Given the description of an element on the screen output the (x, y) to click on. 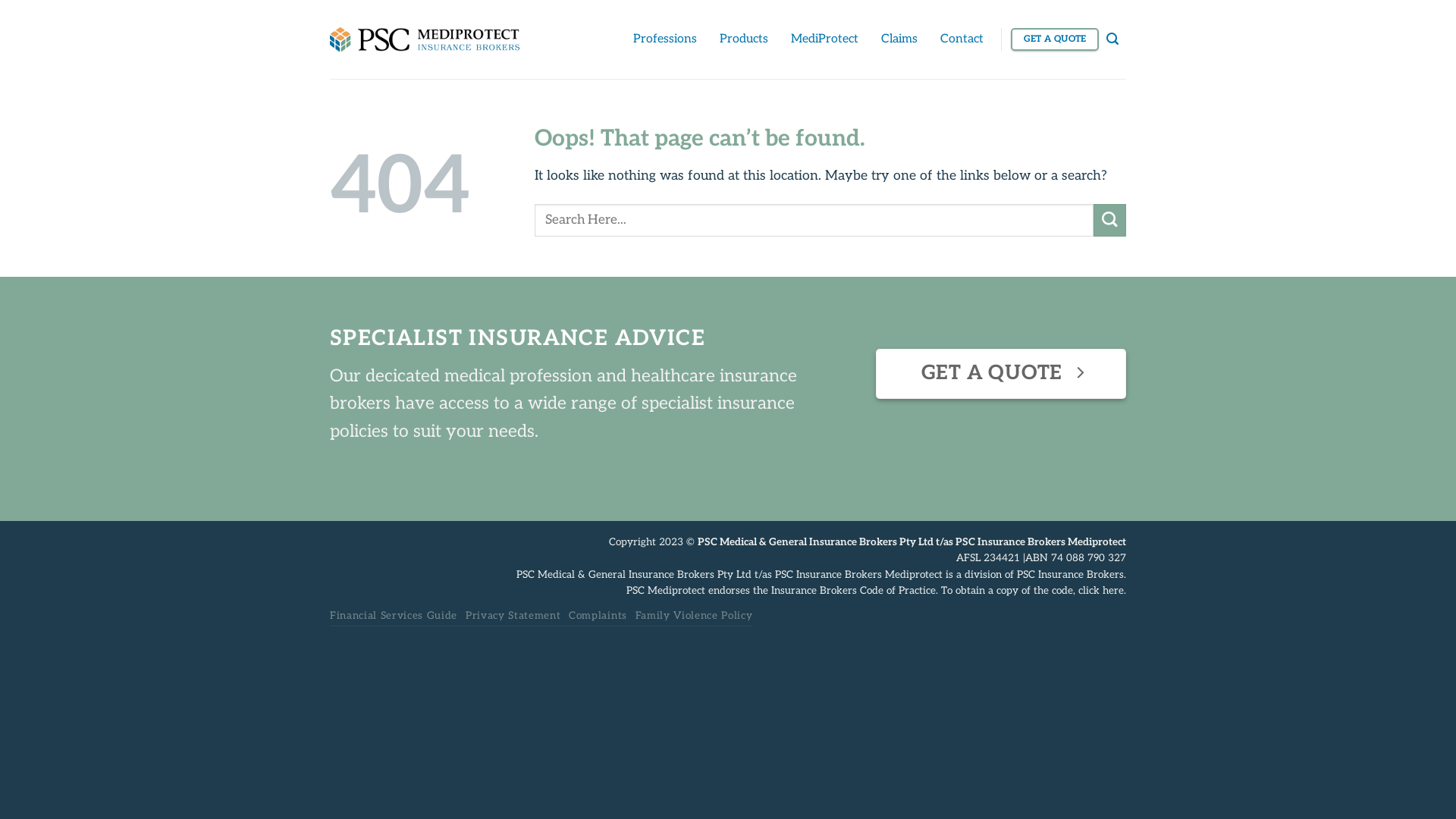
Privacy Statement Element type: text (512, 615)
Products Element type: text (743, 39)
PSC Mediprotect - Medical & Healthcare Insurance Solutions Element type: hover (424, 38)
Complaints Element type: text (597, 615)
MediProtect Element type: text (824, 39)
Family Violence Policy Element type: text (694, 615)
click here Element type: text (1100, 590)
Contact Element type: text (961, 39)
Financial Services Guide Element type: text (393, 615)
GET A QUOTE Element type: text (1054, 39)
Professions Element type: text (664, 39)
GET A QUOTE Element type: text (1000, 373)
Claims Element type: text (899, 39)
